Given the description of an element on the screen output the (x, y) to click on. 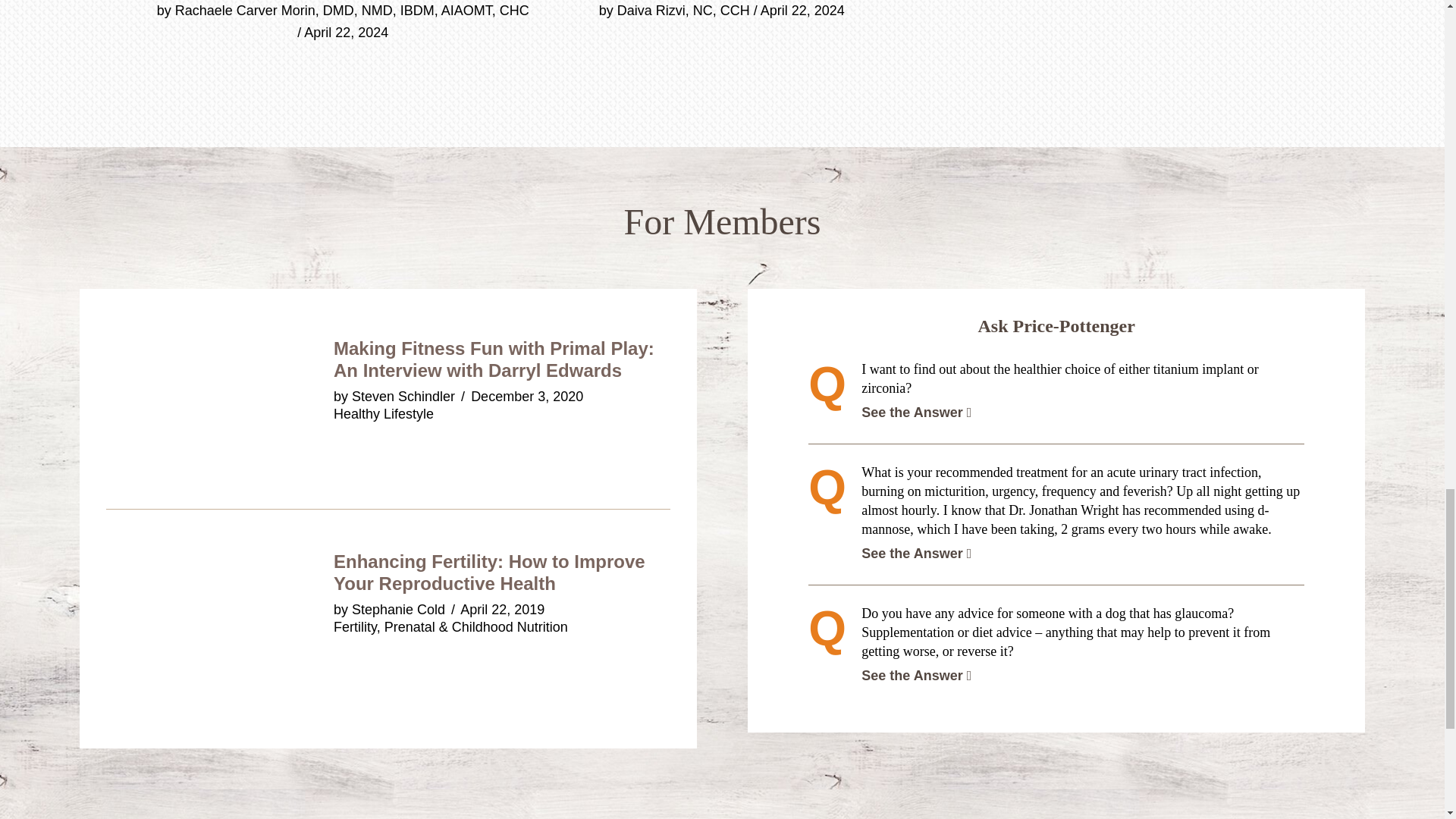
Enhancing Fertility: How to Improve Your Reproductive Health (489, 572)
Enhancing Fertility: How to Improve Your Reproductive Health (219, 710)
